Given the description of an element on the screen output the (x, y) to click on. 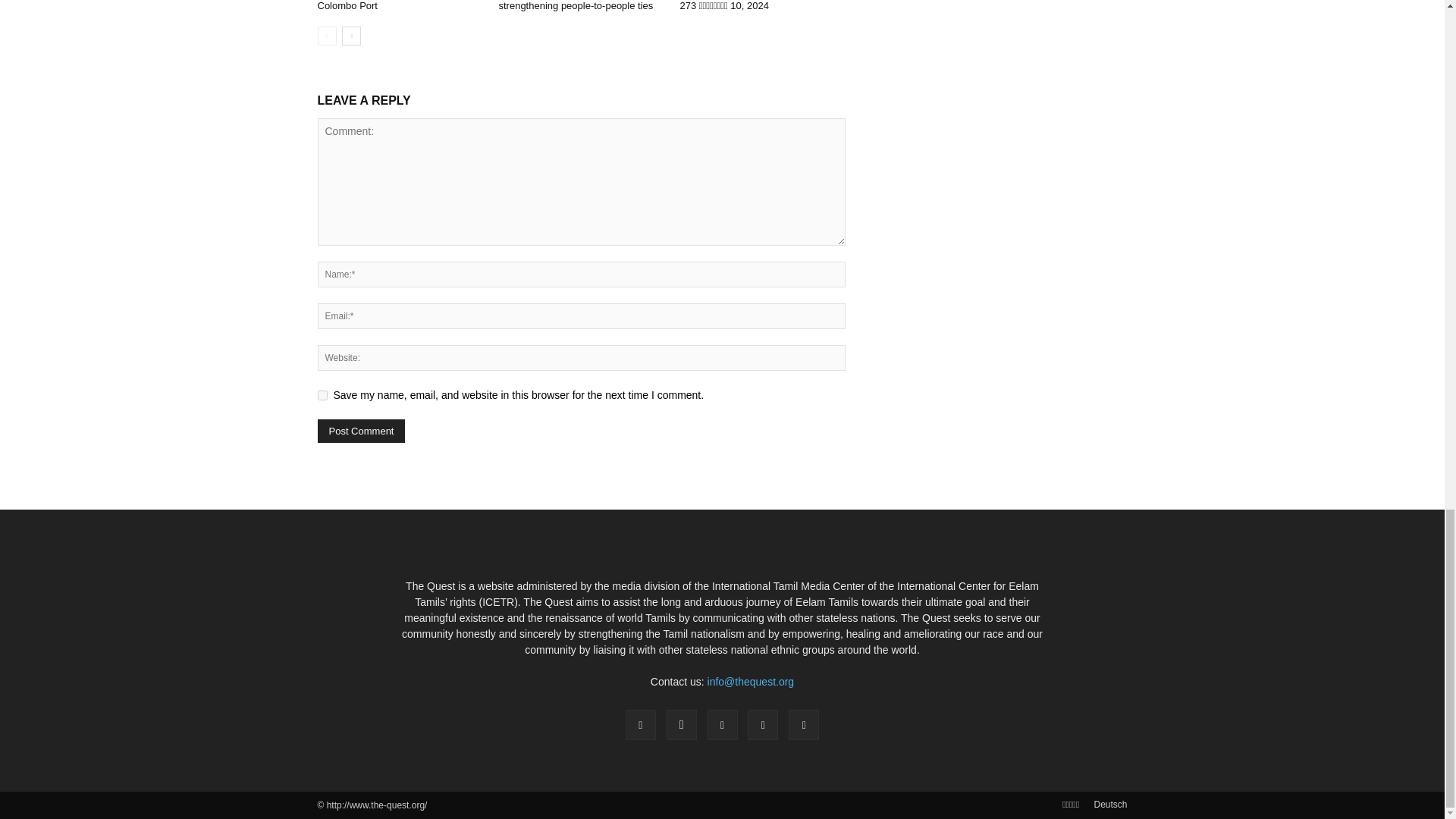
yes (321, 395)
Post Comment (360, 431)
